Given the description of an element on the screen output the (x, y) to click on. 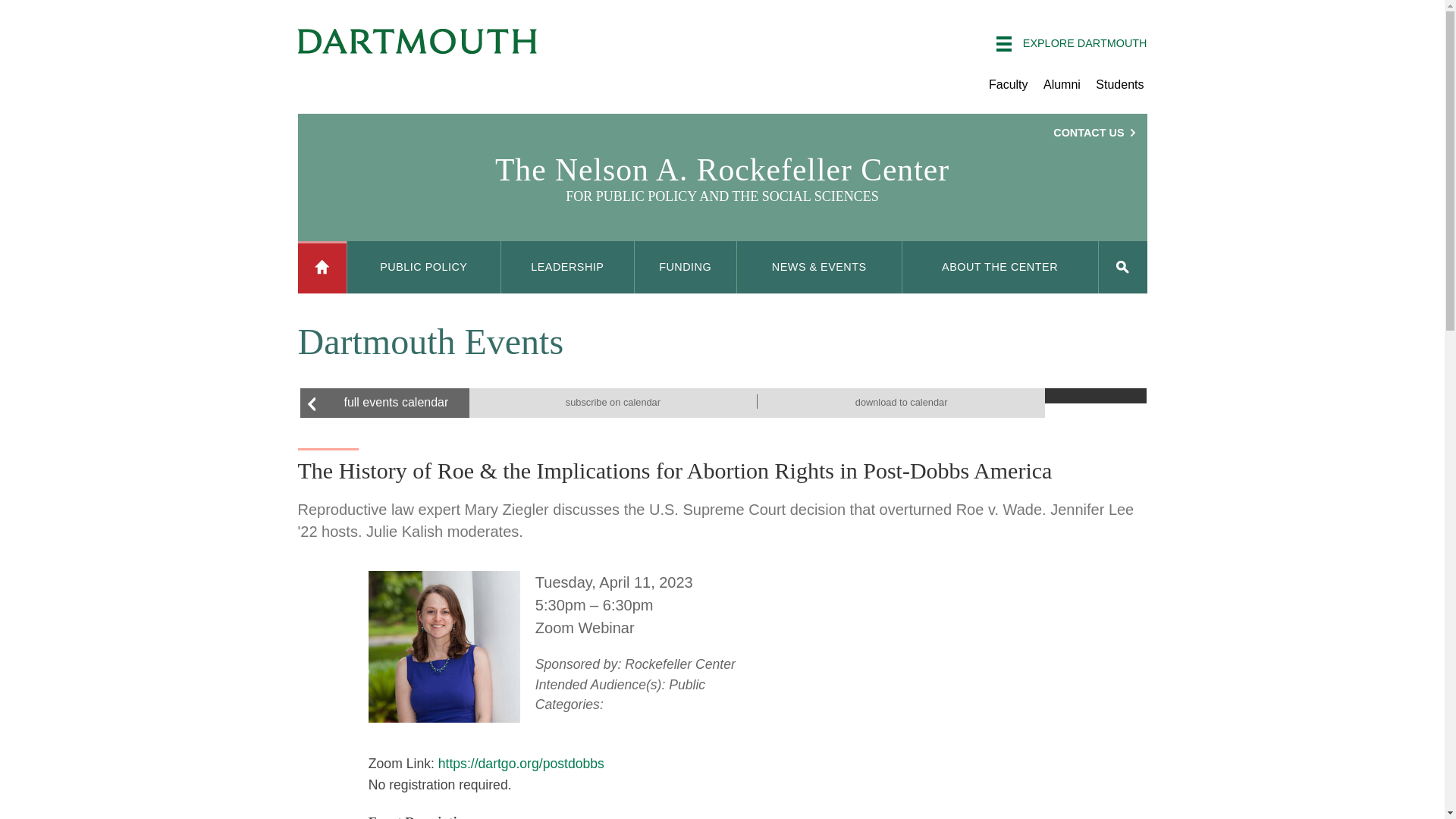
Alumni (1061, 83)
Dartmouth College (417, 41)
EXPLORE DARTMOUTH (1071, 43)
Faculty (1007, 83)
Students (1119, 83)
